Given the description of an element on the screen output the (x, y) to click on. 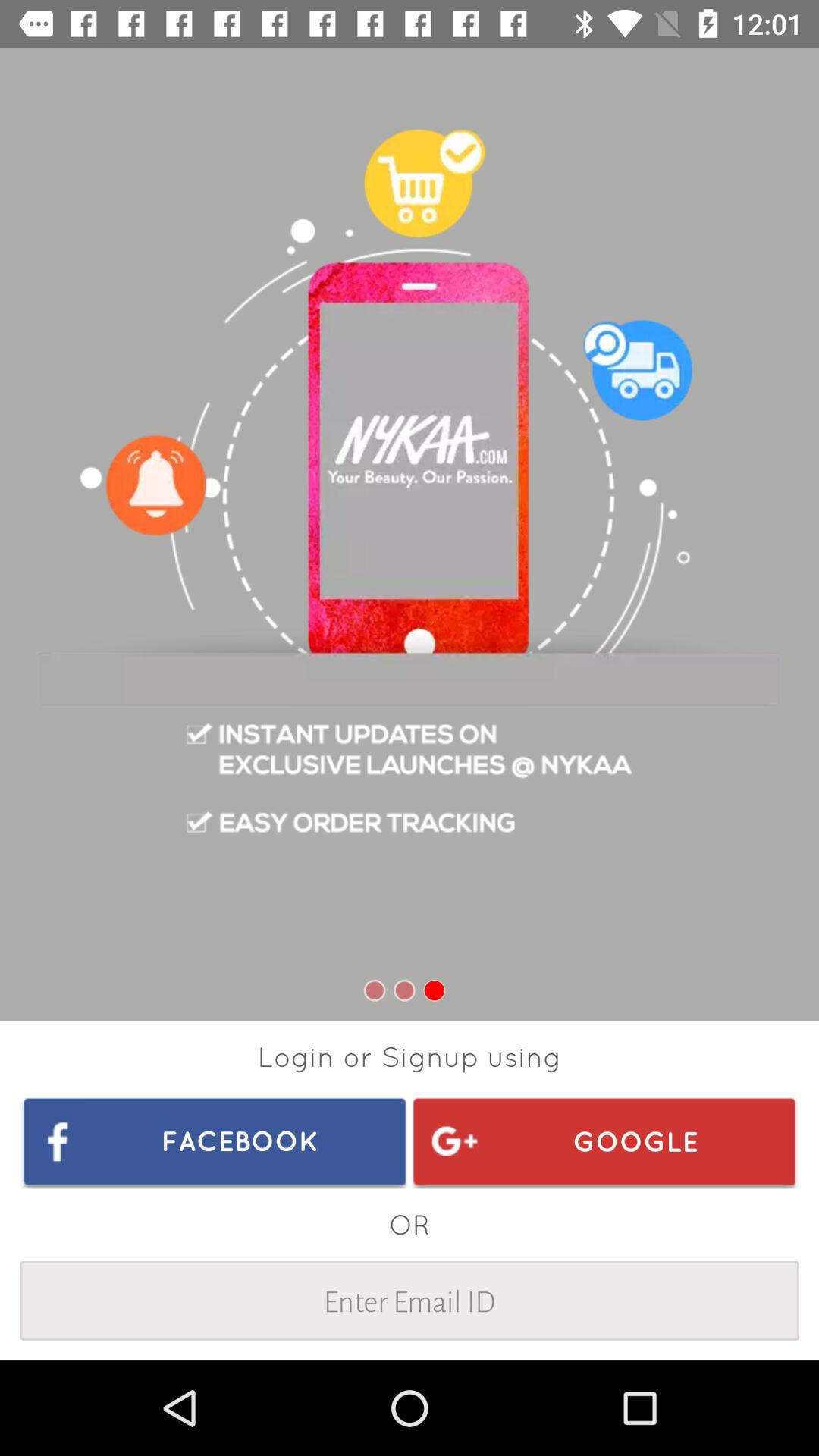
choose facebook item (214, 1140)
